Given the description of an element on the screen output the (x, y) to click on. 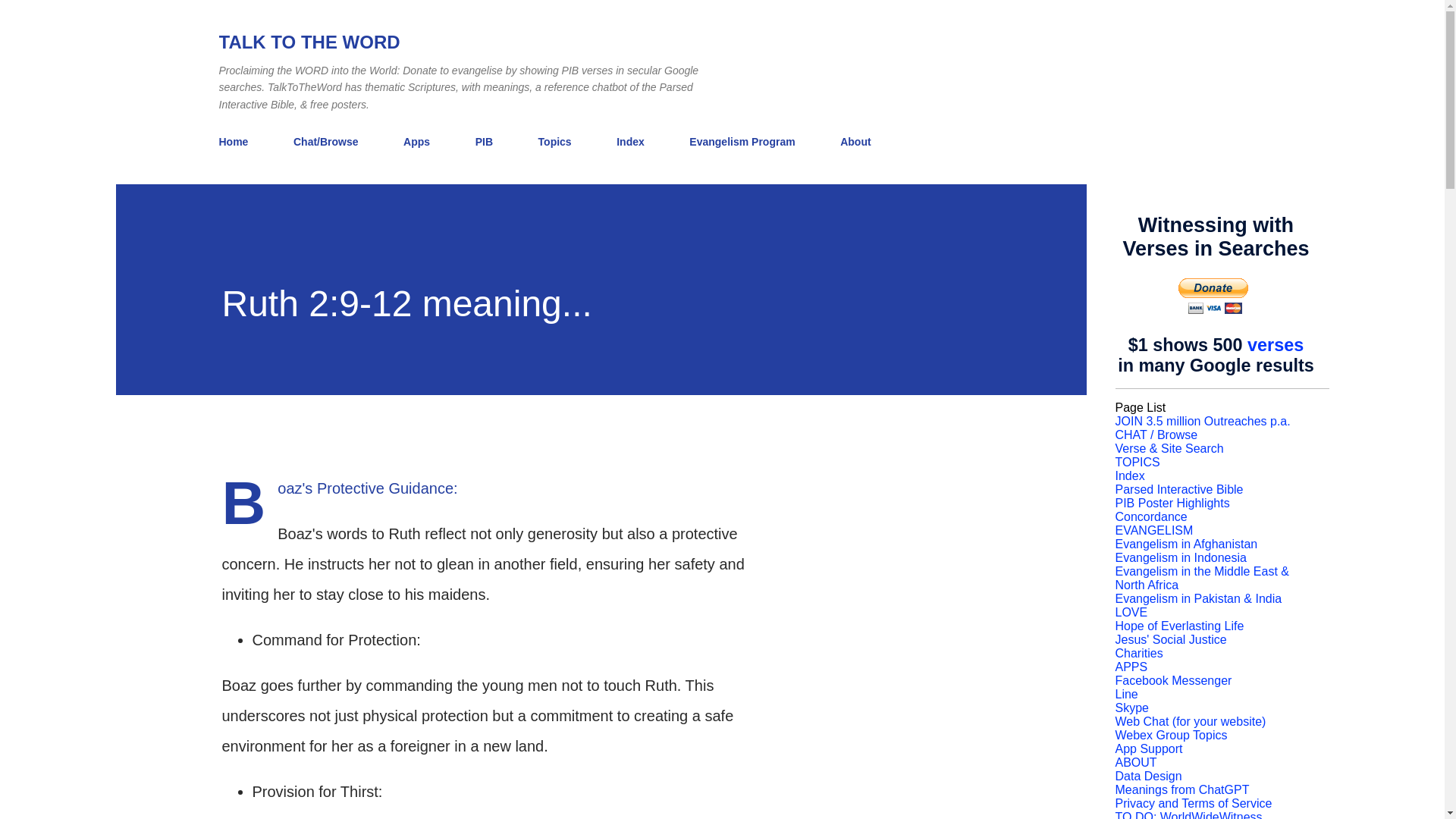
Index (630, 141)
Evangelism in Afghanistan (1186, 543)
Concordance (1150, 516)
verses (1275, 344)
Topics (554, 141)
Evangelism Program (741, 141)
EVANGELISM (1153, 530)
Index (1129, 475)
Evangelism in Indonesia (1180, 557)
Apps (416, 141)
Home (237, 141)
TALK TO THE WORD (308, 41)
Parsed Interactive Bible (1179, 489)
About (855, 141)
PIB Poster Highlights (1171, 502)
